Given the description of an element on the screen output the (x, y) to click on. 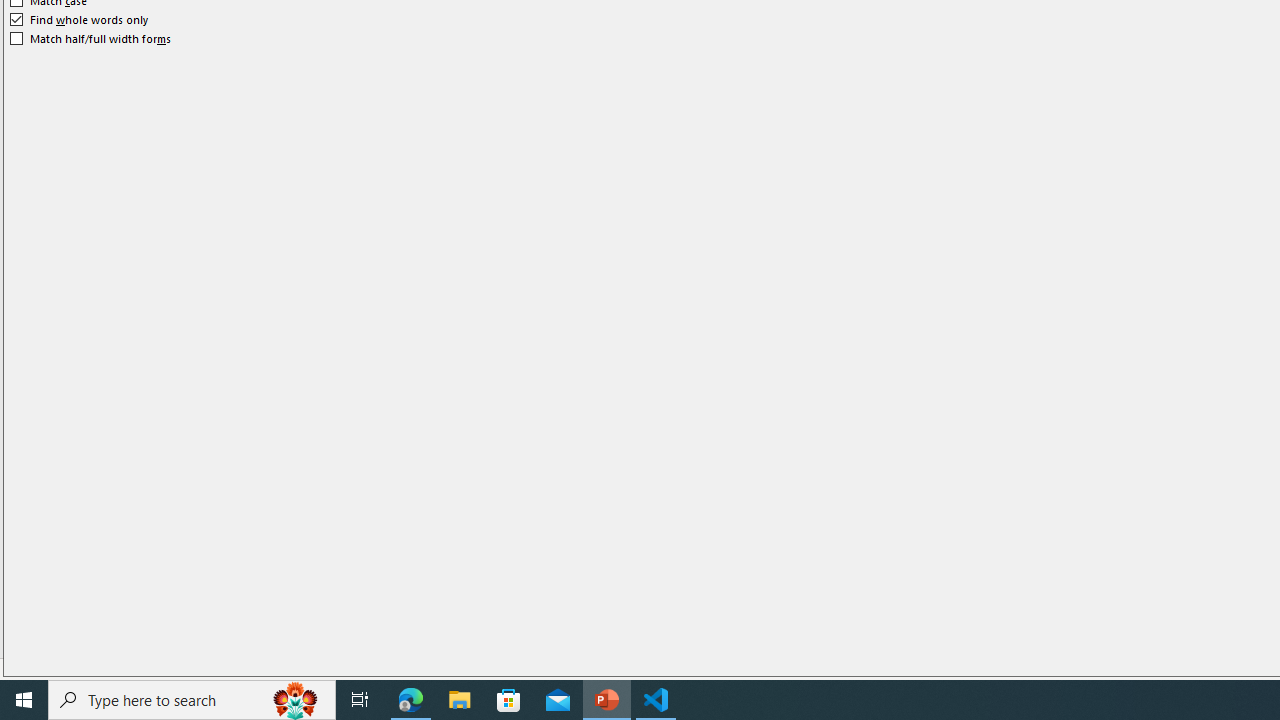
Find whole words only (79, 20)
Match half/full width forms (91, 38)
